Given the description of an element on the screen output the (x, y) to click on. 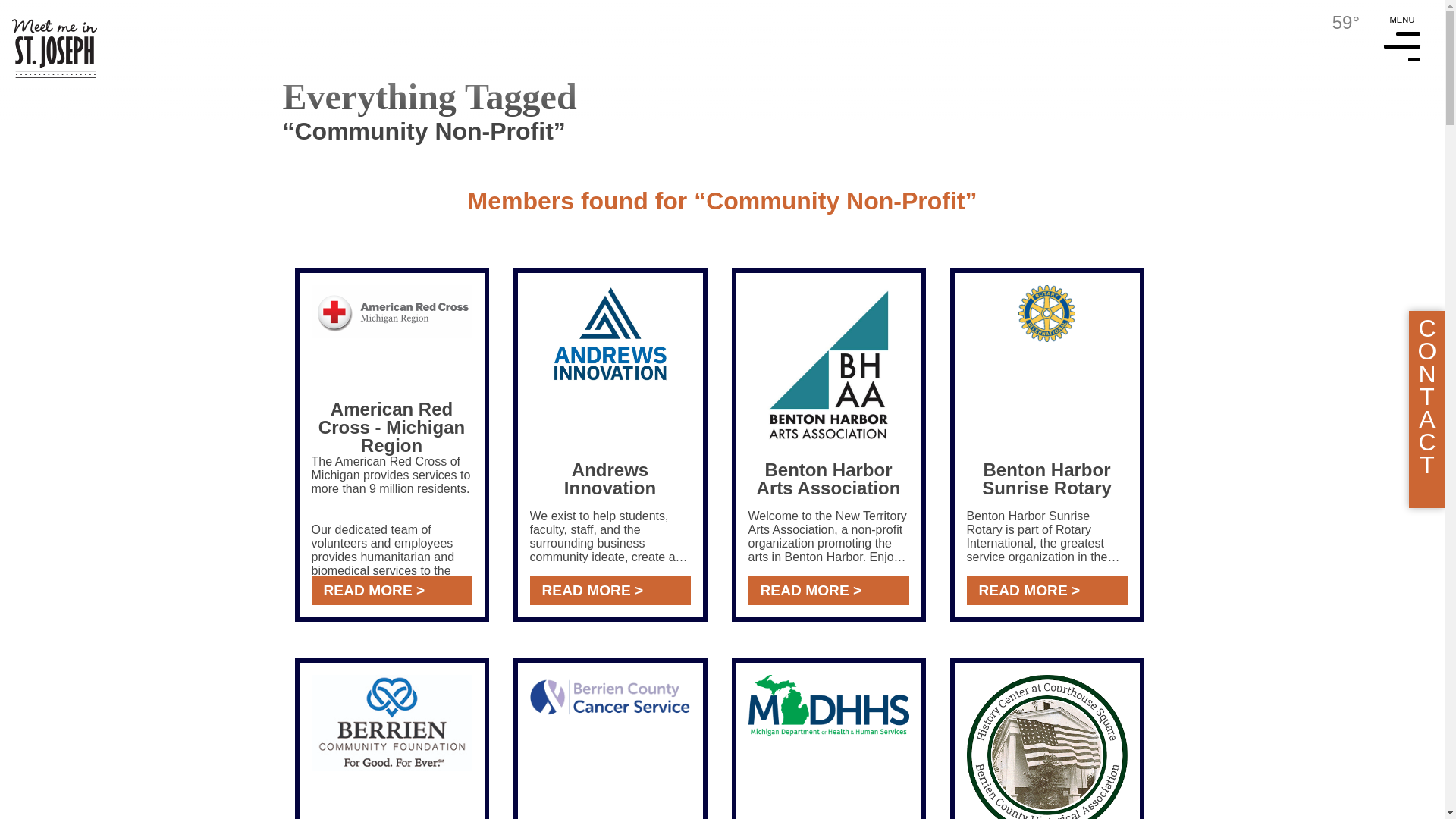
Weather (1333, 22)
HOME (48, 39)
